Given the description of an element on the screen output the (x, y) to click on. 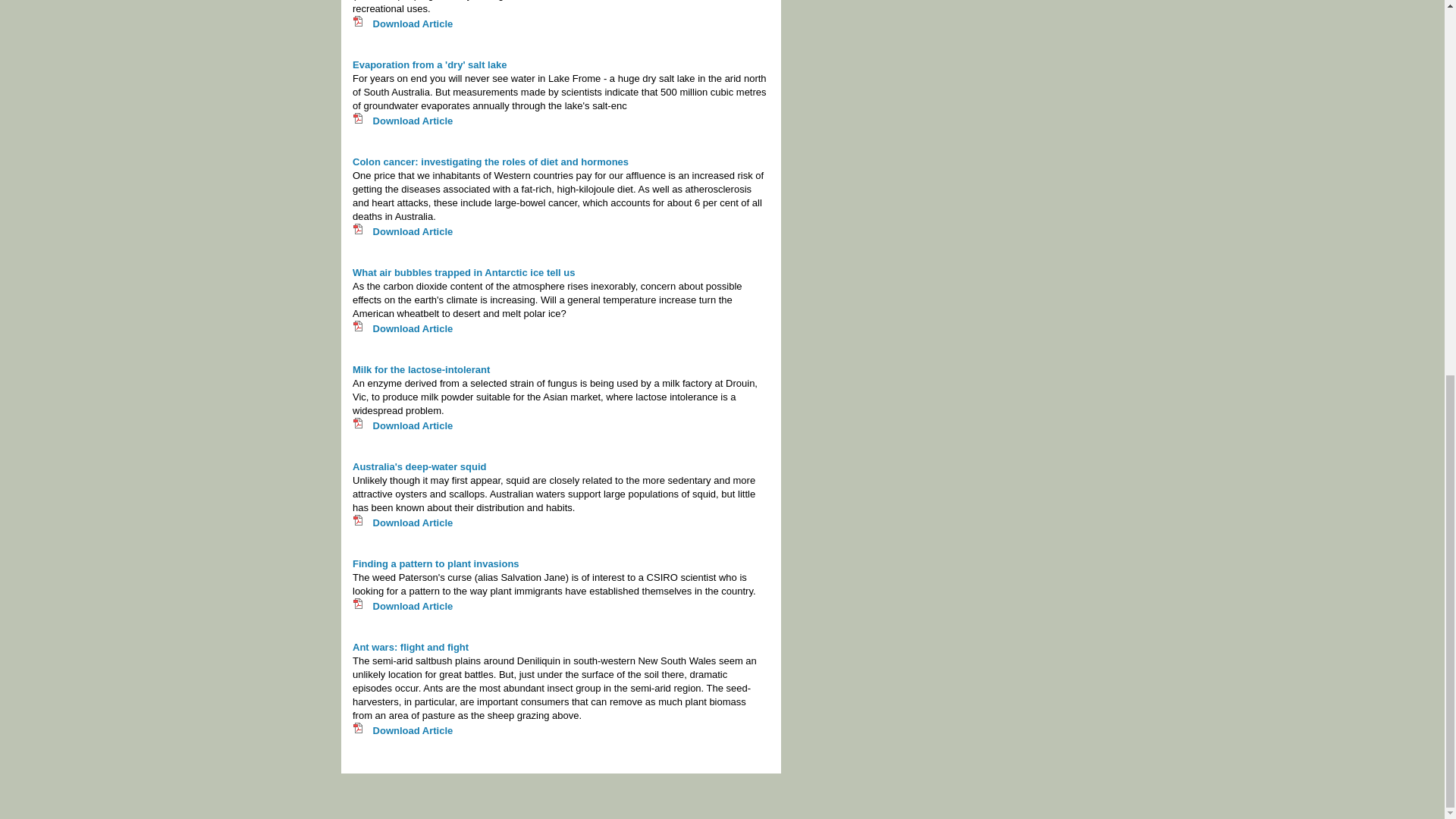
Colon cancer: investigating the roles of diet and hormones (490, 161)
Milk for the lactose-intolerant (420, 369)
Australia's deep-water squid (419, 466)
What air bubbles trapped in Antarctic ice tell us (463, 272)
Download Article (410, 605)
Download Article (410, 730)
Download Article (410, 23)
Download Article (410, 231)
Download Article (410, 120)
Evaporation from a 'dry' salt lake (429, 64)
